Given the description of an element on the screen output the (x, y) to click on. 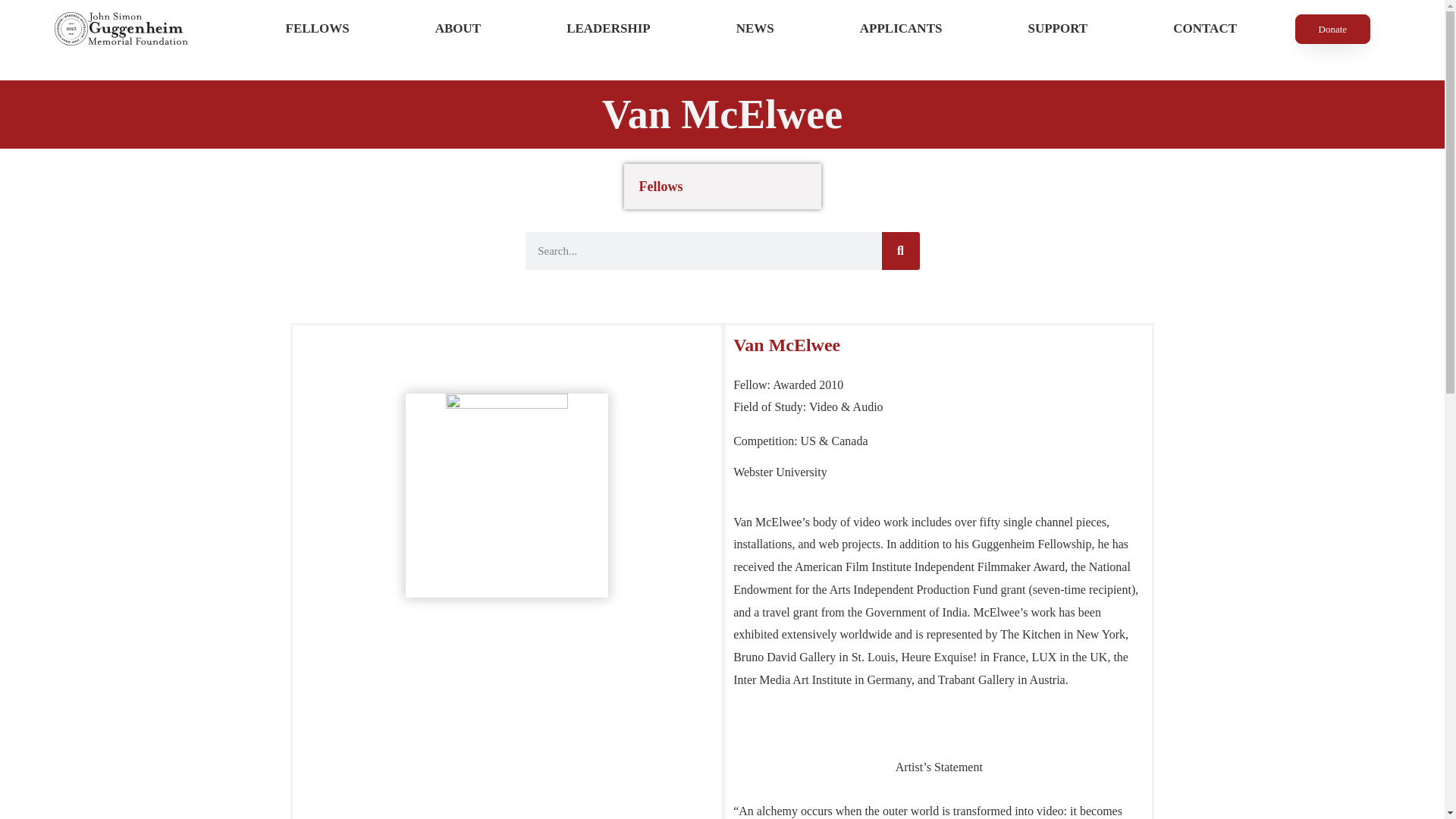
ABOUT (457, 28)
FELLOWS (317, 28)
LEADERSHIP (609, 28)
NEWS (754, 28)
SUPPORT (1058, 28)
APPLICANTS (900, 28)
CONTACT (1205, 28)
